Given the description of an element on the screen output the (x, y) to click on. 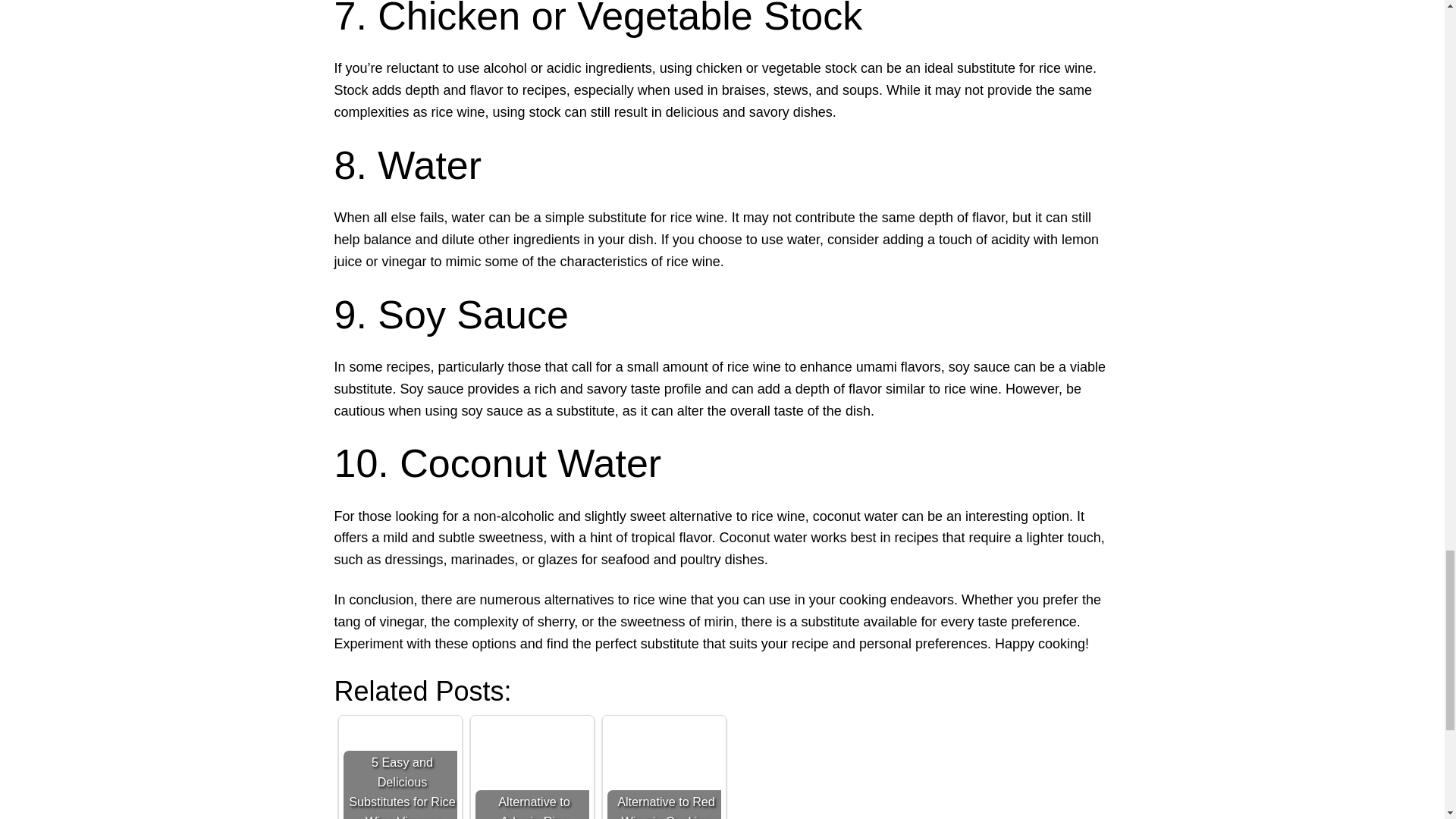
5 Easy and Delicious Substitutes for Rice Wine Vinegar (399, 769)
Alternative to Arborio Rice (531, 769)
Alternative to Red Wine in Cooking (663, 769)
5 Easy and Delicious Substitutes for Rice Wine Vinegar (399, 769)
Alternative to Arborio Rice (531, 769)
Alternative to Red Wine in Cooking (663, 769)
